Given the description of an element on the screen output the (x, y) to click on. 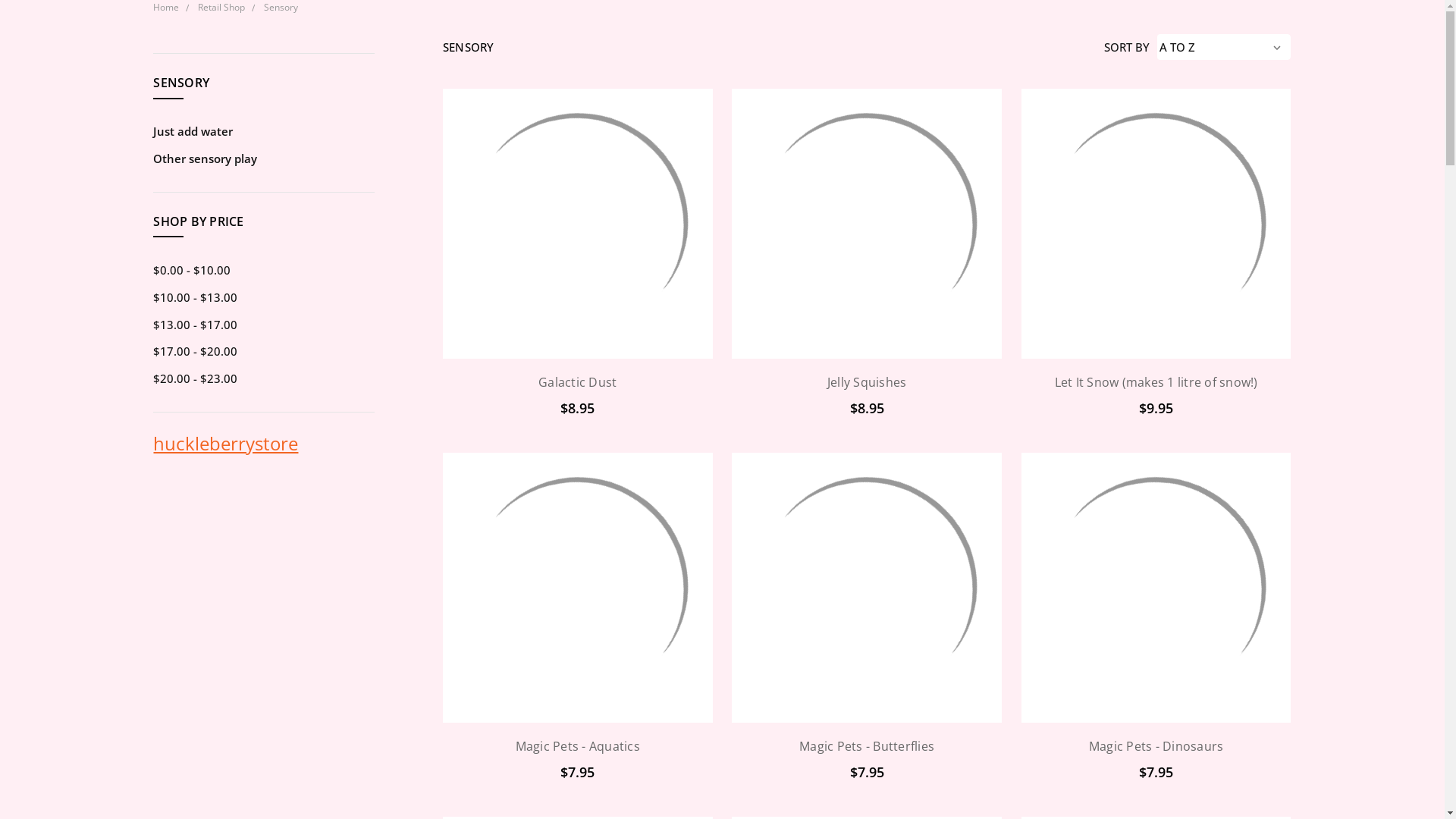
Magic Pets - Dinosaurs Element type: text (1155, 745)
Galactic Dust Element type: hover (577, 223)
Sensory Element type: text (280, 6)
Jelly Squishes Element type: text (866, 381)
Jelly Squishes Element type: hover (866, 223)
$13.00 - $17.00 Element type: text (263, 324)
$10.00 - $13.00 Element type: text (263, 297)
Retail Shop Element type: text (220, 6)
Magic Pets - Aquatics Element type: hover (577, 587)
Home Element type: text (165, 6)
$17.00 - $20.00 Element type: text (263, 351)
Magic Pets - Butterflies Element type: text (866, 745)
Magic Pets - Dinosaurs Element type: hover (1156, 587)
Magic Pets - Aquatics Element type: text (577, 745)
$0.00 - $10.00 Element type: text (263, 270)
Let It Snow (makes 1 litre of snow!) Element type: text (1156, 381)
$20.00 - $23.00 Element type: text (263, 378)
Let It Snow (makes 1 litre of snow!) Element type: hover (1156, 223)
huckleberrystore Element type: text (225, 442)
Galactic Dust Element type: text (577, 381)
Other sensory play Element type: text (263, 158)
Magic Pets - Butterflies Element type: hover (866, 587)
Just add water Element type: text (263, 131)
